Given the description of an element on the screen output the (x, y) to click on. 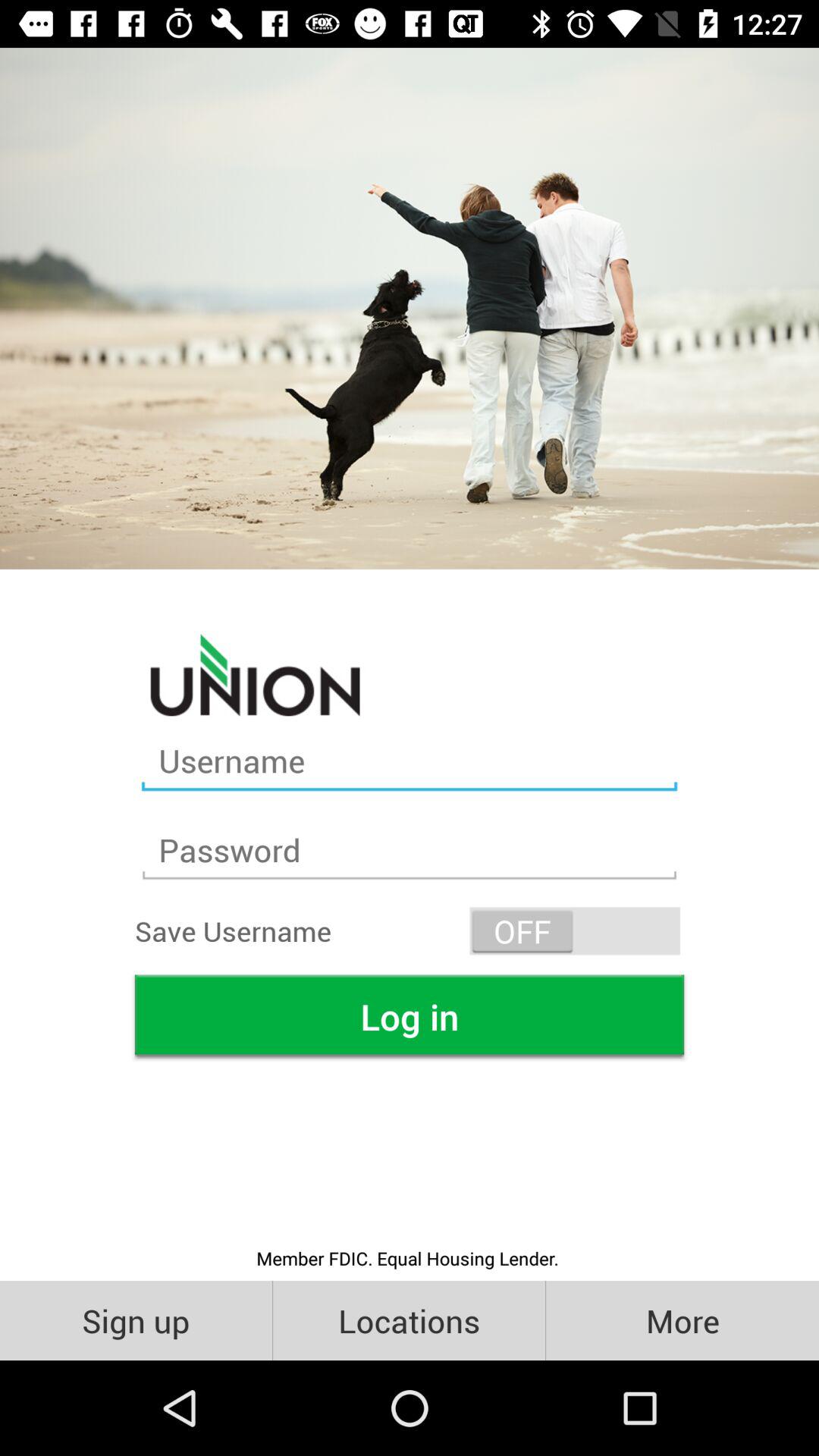
flip until log in item (409, 1016)
